Given the description of an element on the screen output the (x, y) to click on. 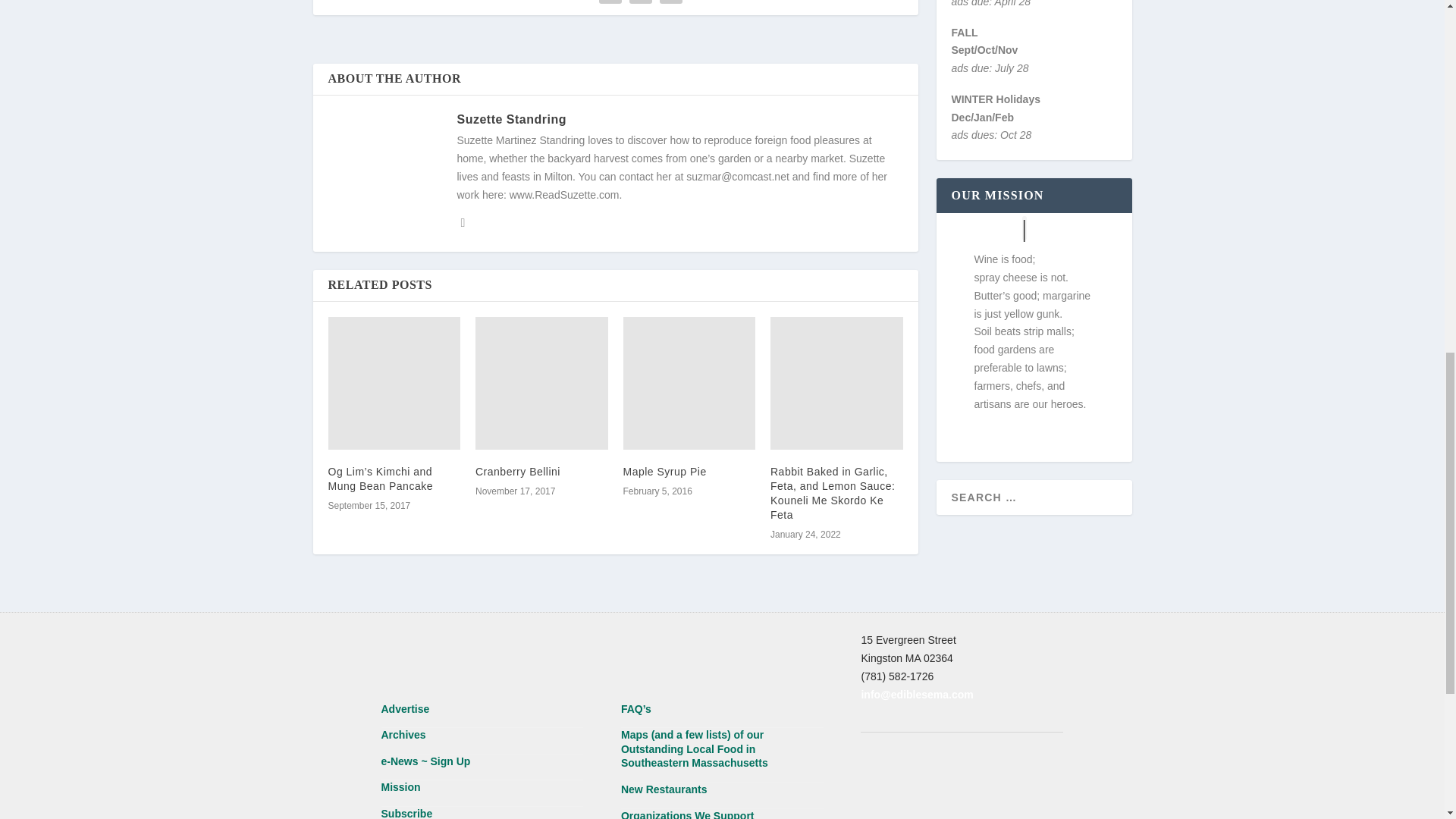
Cranberry Bellini (518, 471)
Suzette Standring (511, 119)
Cranberry Bellini (542, 382)
View all posts by Suzette Standring (511, 119)
Maple Syrup Pie (664, 471)
Maple Syrup Pie (689, 382)
